Given the description of an element on the screen output the (x, y) to click on. 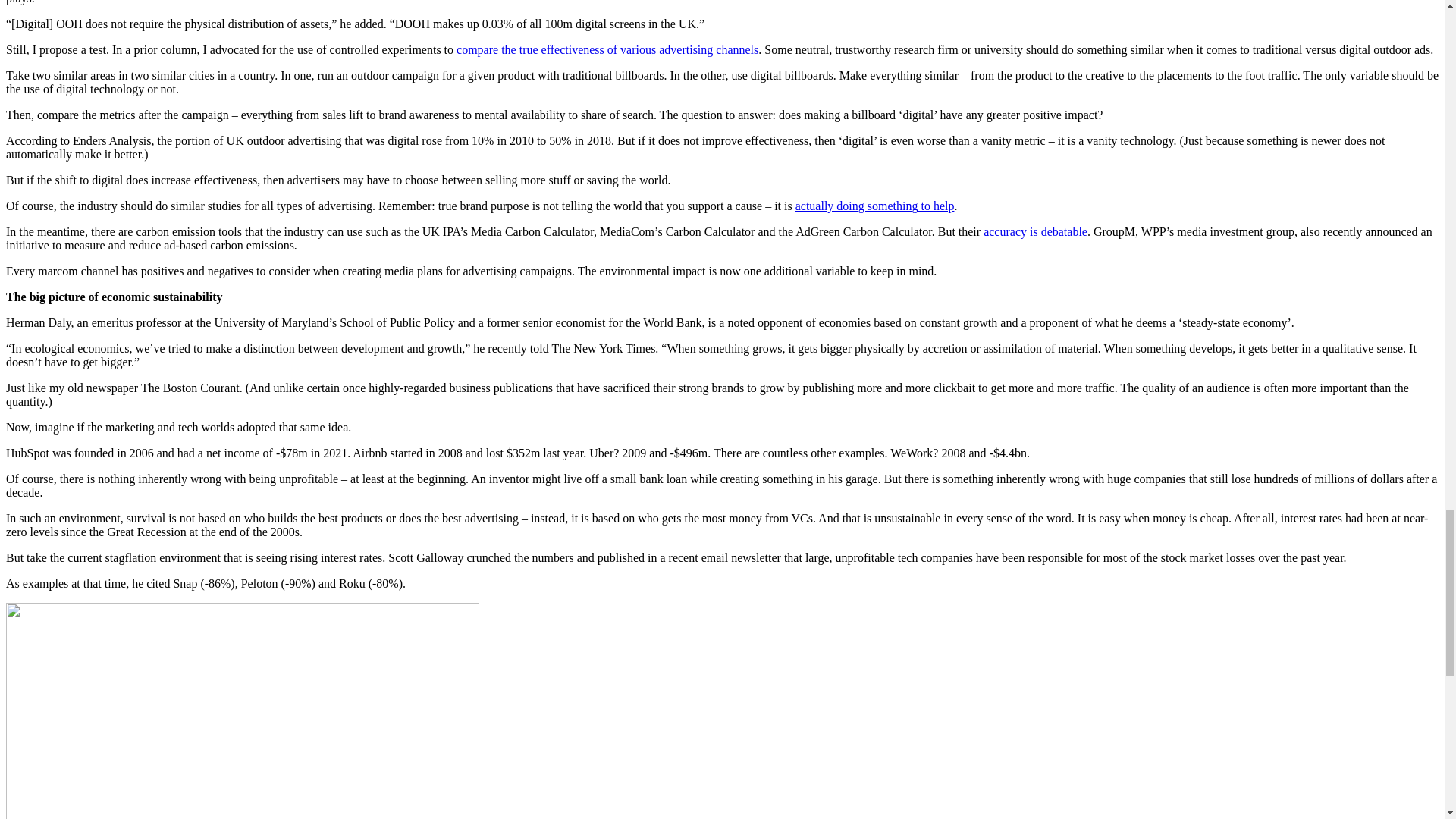
accuracy is debatable (1035, 231)
actually doing something to help (874, 205)
